Given the description of an element on the screen output the (x, y) to click on. 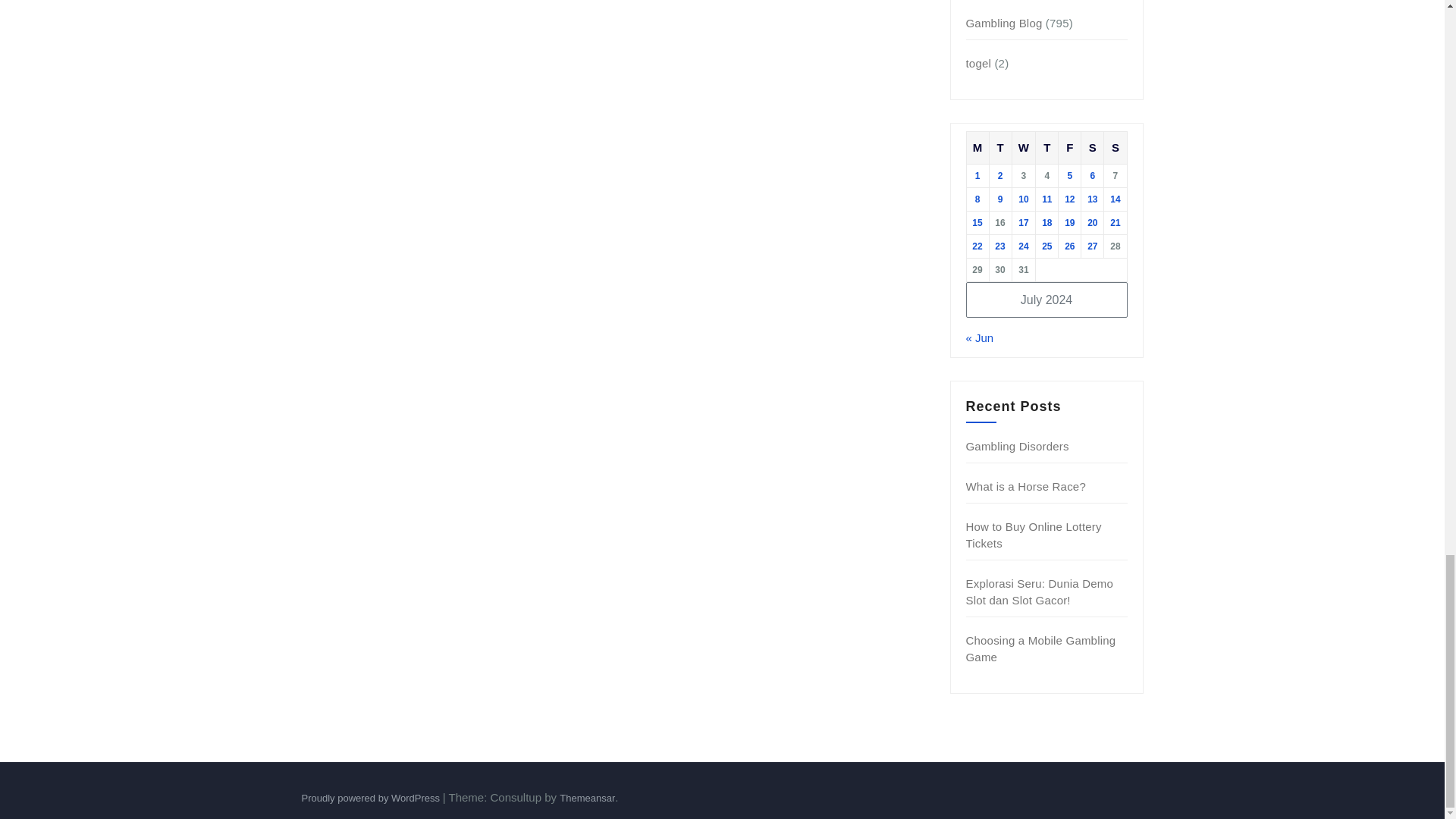
togel (978, 62)
Gambling Blog (1004, 22)
